Given the description of an element on the screen output the (x, y) to click on. 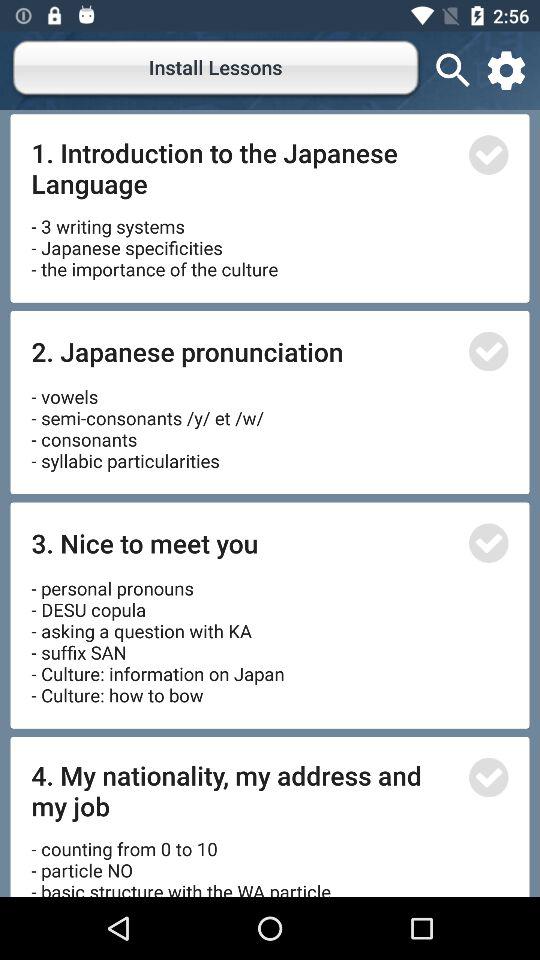
add lesson (488, 154)
